Given the description of an element on the screen output the (x, y) to click on. 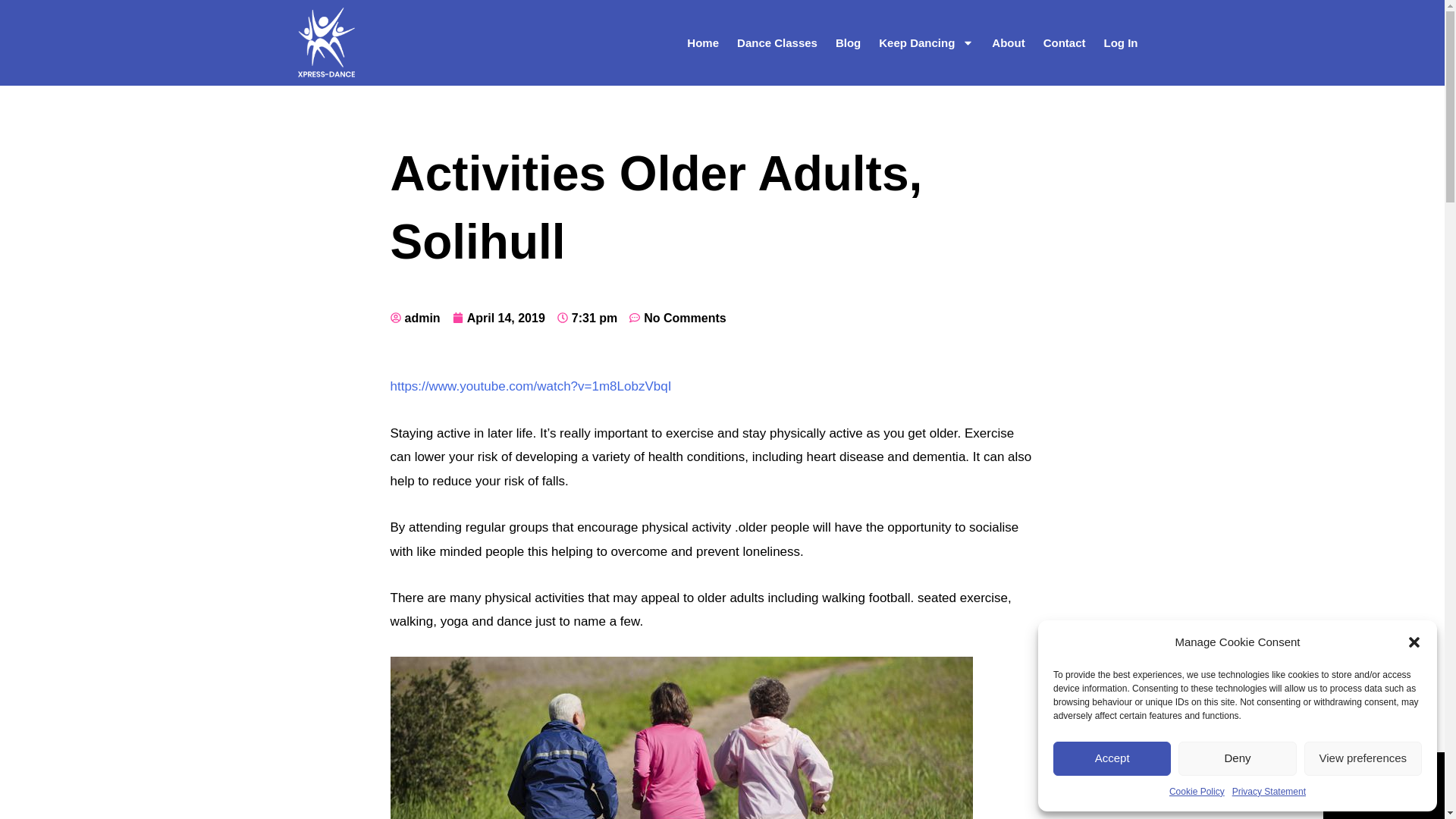
Cookie Policy (1196, 791)
Privacy Statement (1268, 791)
About (1007, 42)
Home (703, 42)
Log In (1120, 42)
Keep Dancing (925, 42)
Deny (1236, 758)
Contact (1063, 42)
Blog (848, 42)
Dance Classes (777, 42)
View preferences (1363, 758)
Accept (1111, 758)
